Given the description of an element on the screen output the (x, y) to click on. 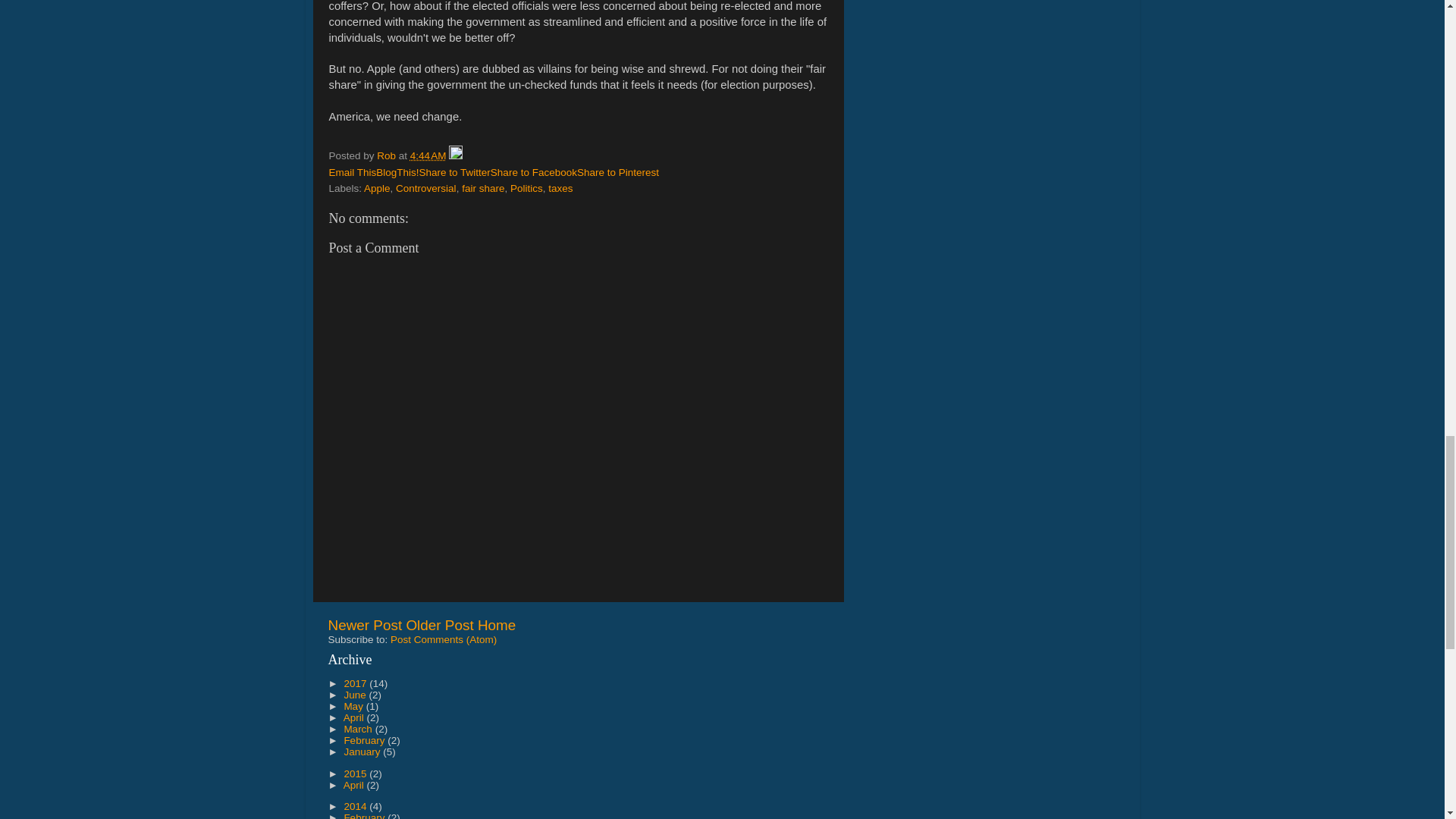
BlogThis! (397, 172)
fair share (482, 188)
Share to Facebook (533, 172)
Share to Facebook (533, 172)
Share to Twitter (454, 172)
Newer Post (364, 625)
Controversial (426, 188)
2017 (356, 683)
Apple (377, 188)
Newer Post (364, 625)
Politics (527, 188)
BlogThis! (397, 172)
May (354, 706)
Share to Twitter (454, 172)
Email This (353, 172)
